Given the description of an element on the screen output the (x, y) to click on. 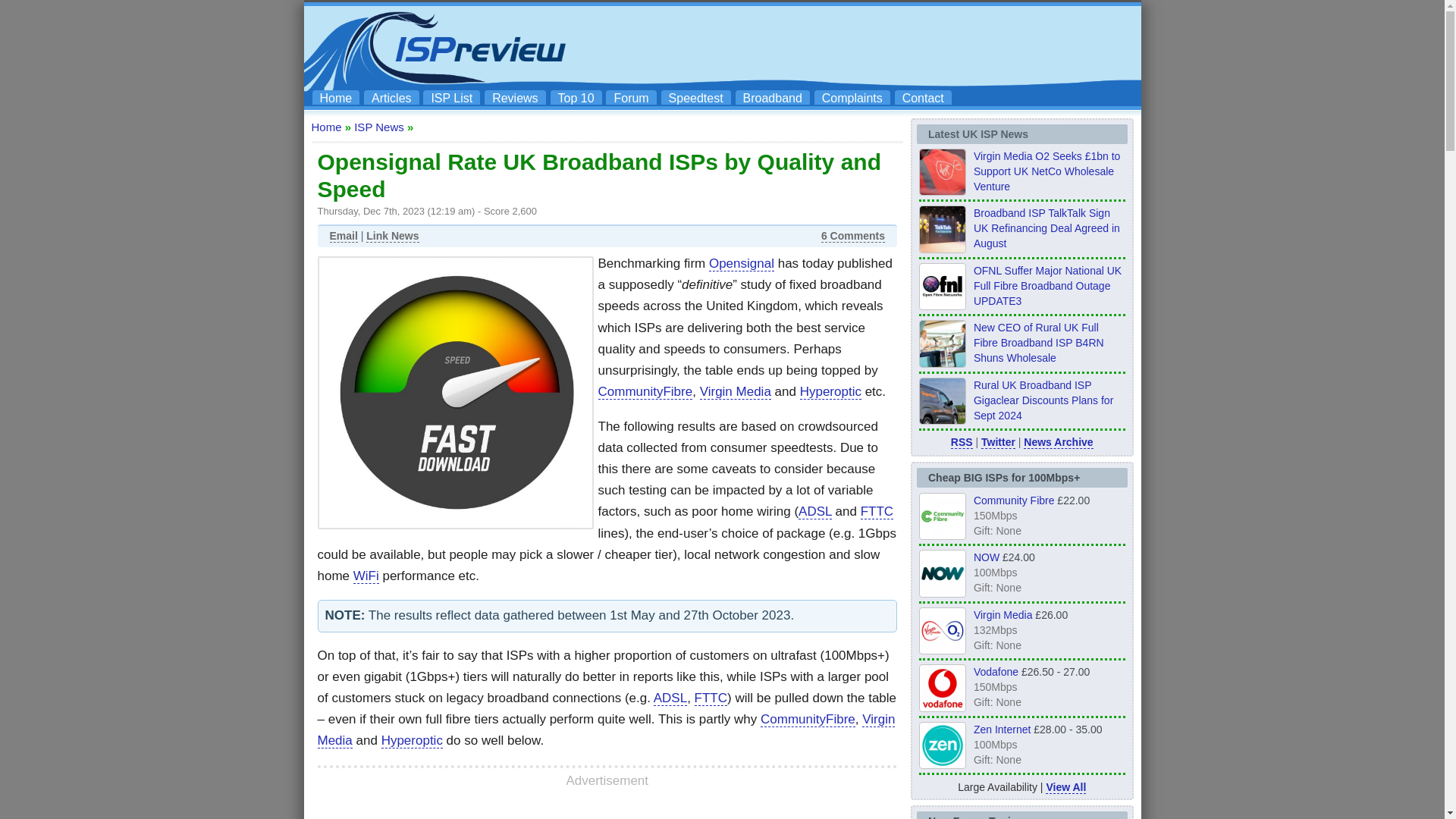
Hyperoptic (830, 391)
ADSL (814, 511)
Hyperoptic (411, 740)
Virgin Media (735, 391)
Home (325, 126)
Top 10 (576, 97)
Broadband ISP Discussion Forum (630, 97)
WiFi (365, 575)
Reviews (514, 97)
ISP News (378, 126)
